Given the description of an element on the screen output the (x, y) to click on. 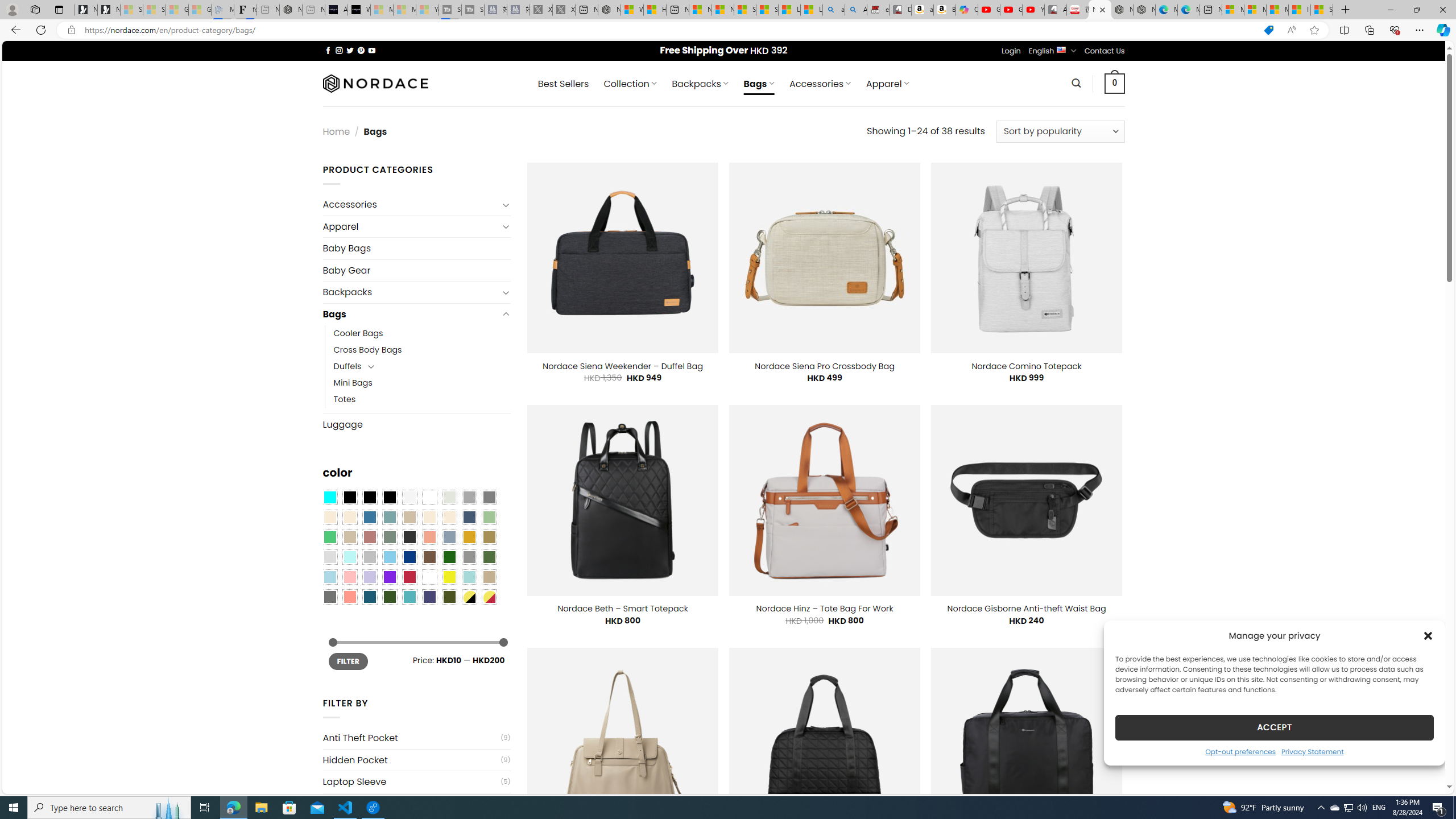
X - Sleeping (563, 9)
Black (369, 497)
Totes (422, 398)
Blue Sage (389, 517)
Light Taupe (349, 536)
Nordace Comino Totepack (1026, 365)
Peach Pink (349, 596)
Black-Brown (389, 497)
